Given the description of an element on the screen output the (x, y) to click on. 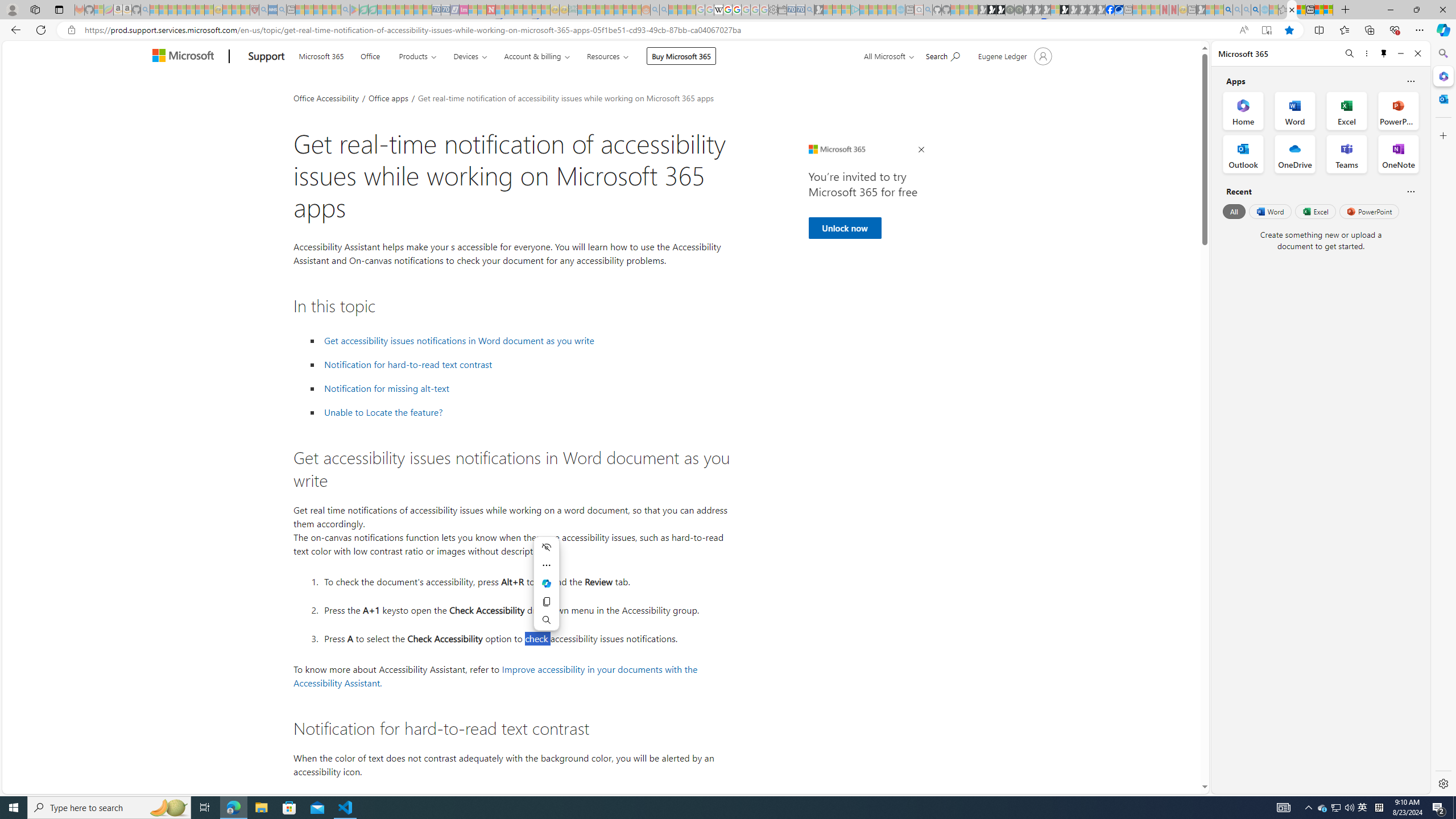
Google Chrome Internet Browser Download - Search Images (1255, 9)
Hide menu (546, 547)
Home Office App (1243, 110)
